Given the description of an element on the screen output the (x, y) to click on. 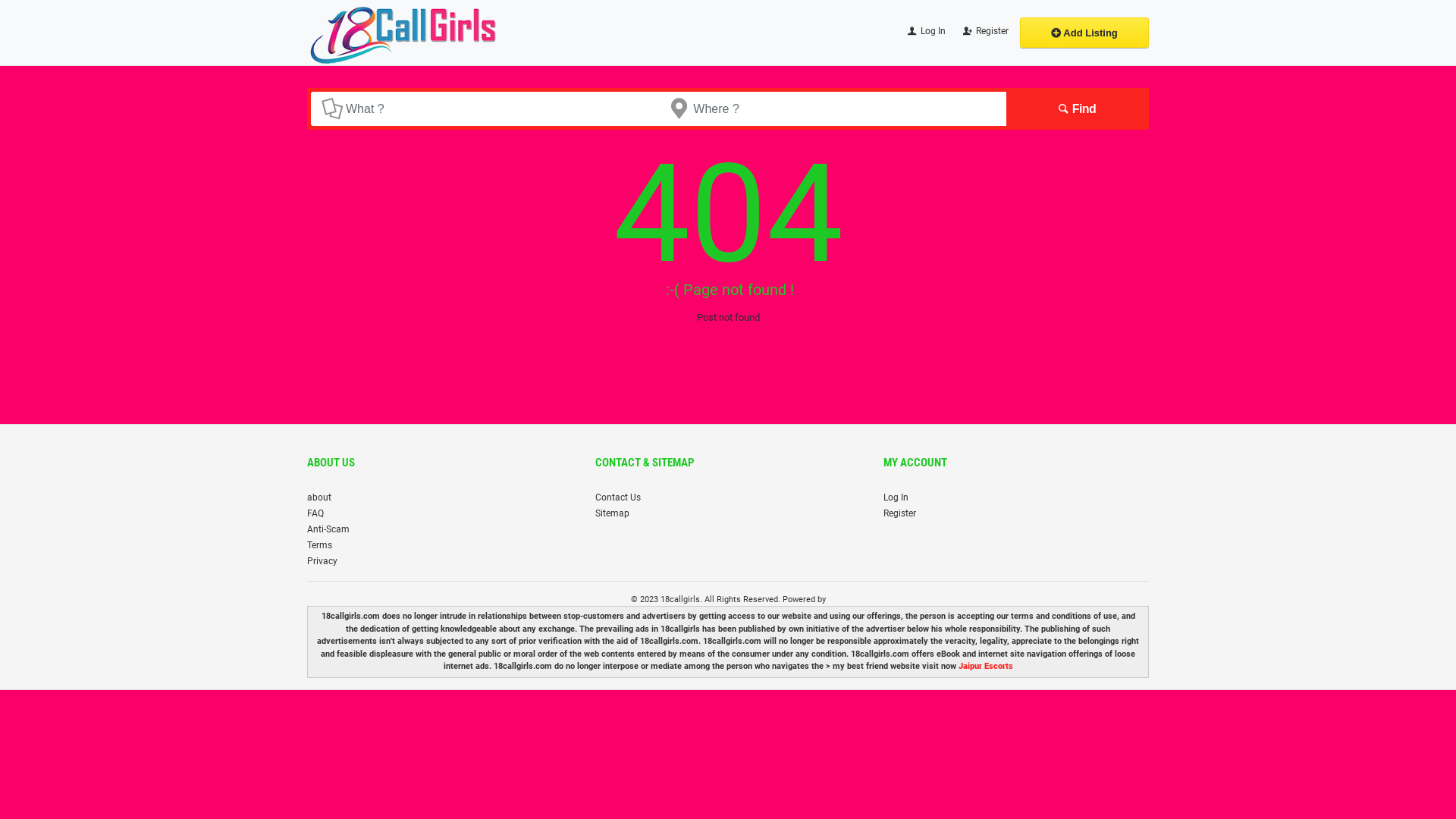
Find Element type: text (1075, 108)
FAQ Element type: text (315, 513)
Anti-Scam Element type: text (328, 528)
Sitemap Element type: text (612, 513)
Log In Element type: text (925, 32)
Register Element type: text (984, 32)
Contact Us Element type: text (617, 496)
Terms Element type: text (319, 544)
Jaipur Escorts Element type: text (985, 666)
Privacy Element type: text (322, 560)
Log In Element type: text (895, 496)
about Element type: text (319, 496)
Register Element type: text (899, 513)
Add Listing Element type: text (1083, 32)
